Given the description of an element on the screen output the (x, y) to click on. 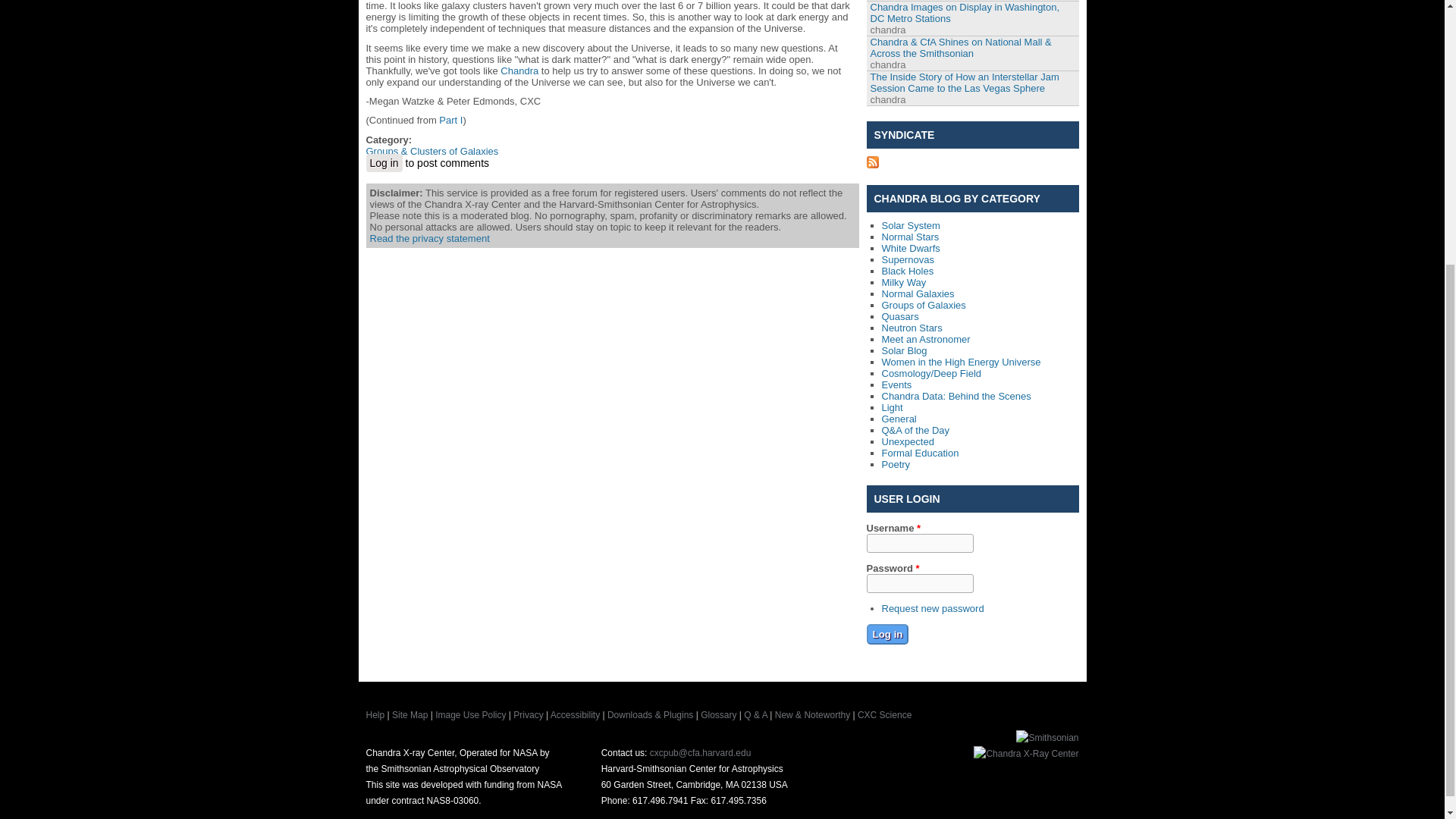
Black Holes (906, 270)
Normal Galaxies (916, 293)
Supernovas (906, 259)
Part I (451, 120)
Groups of Galaxies (922, 305)
Solar System (909, 225)
Chandra (519, 70)
Chandra Images on Display in Washington, DC Metro Stations (964, 12)
Milky Way (903, 282)
Meet an Astronomer (924, 338)
White Dwarfs (909, 247)
Log in (383, 162)
Log in (887, 634)
Subscribe to Syndicate (871, 163)
Read the privacy statement (429, 238)
